Given the description of an element on the screen output the (x, y) to click on. 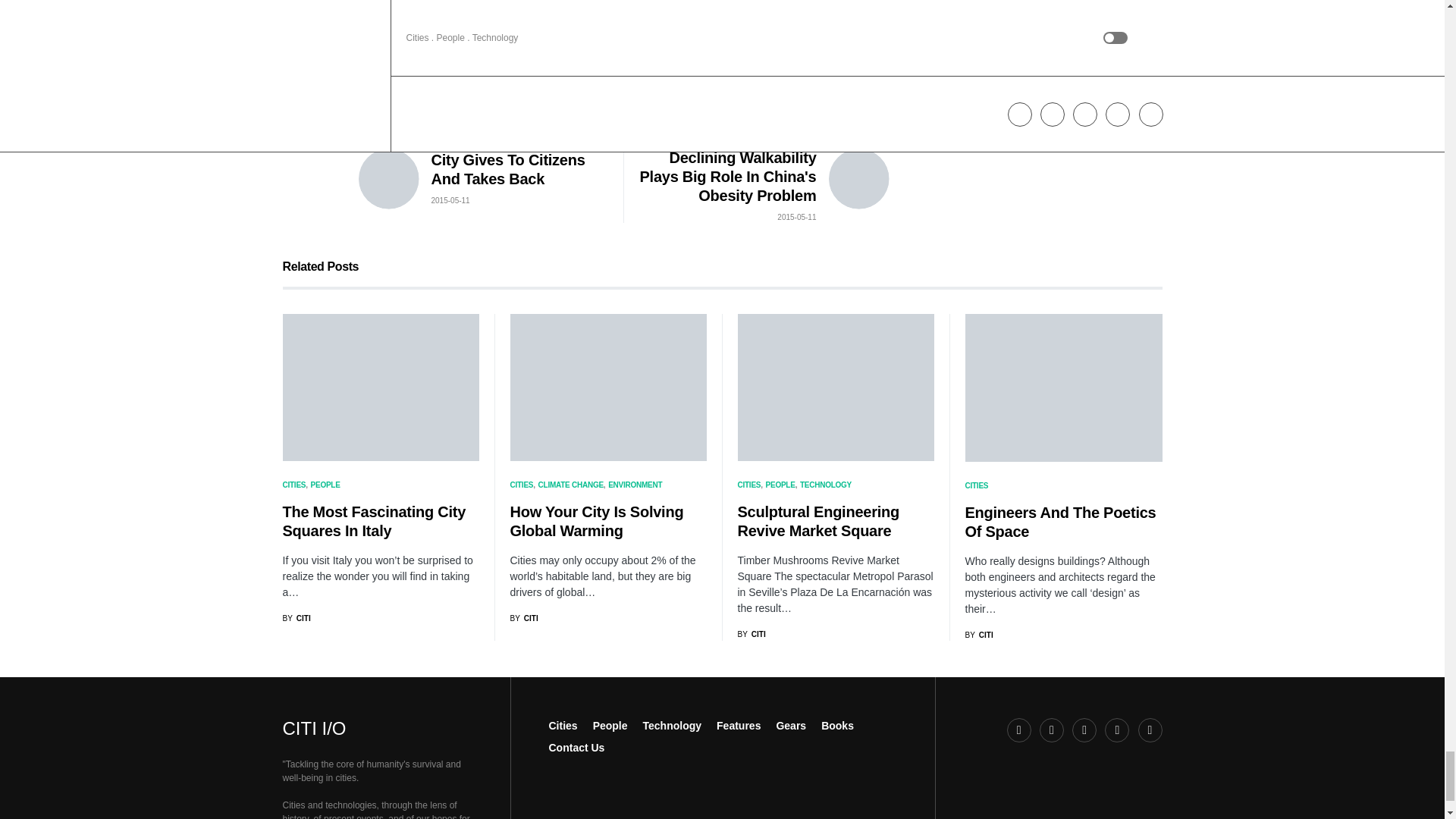
View all posts by citi (296, 618)
View all posts by citi (523, 618)
View all posts by citi (750, 633)
View all posts by citi (977, 634)
